Given the description of an element on the screen output the (x, y) to click on. 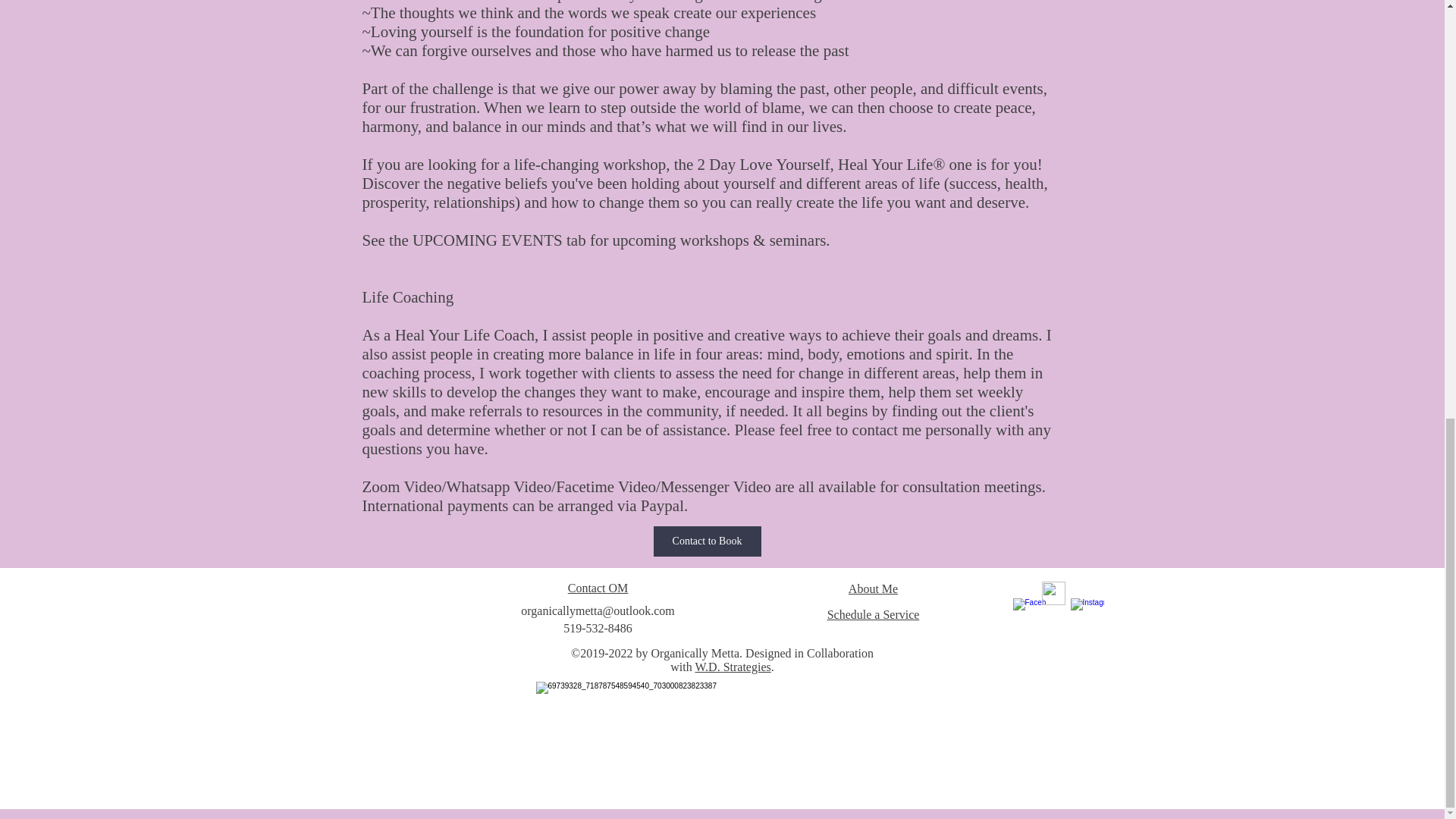
Contact to Book (707, 541)
519-532-8486 (597, 627)
Contact OM (597, 587)
Schedule a Service (873, 614)
About Me (873, 588)
W.D. Strategies (732, 666)
